Given the description of an element on the screen output the (x, y) to click on. 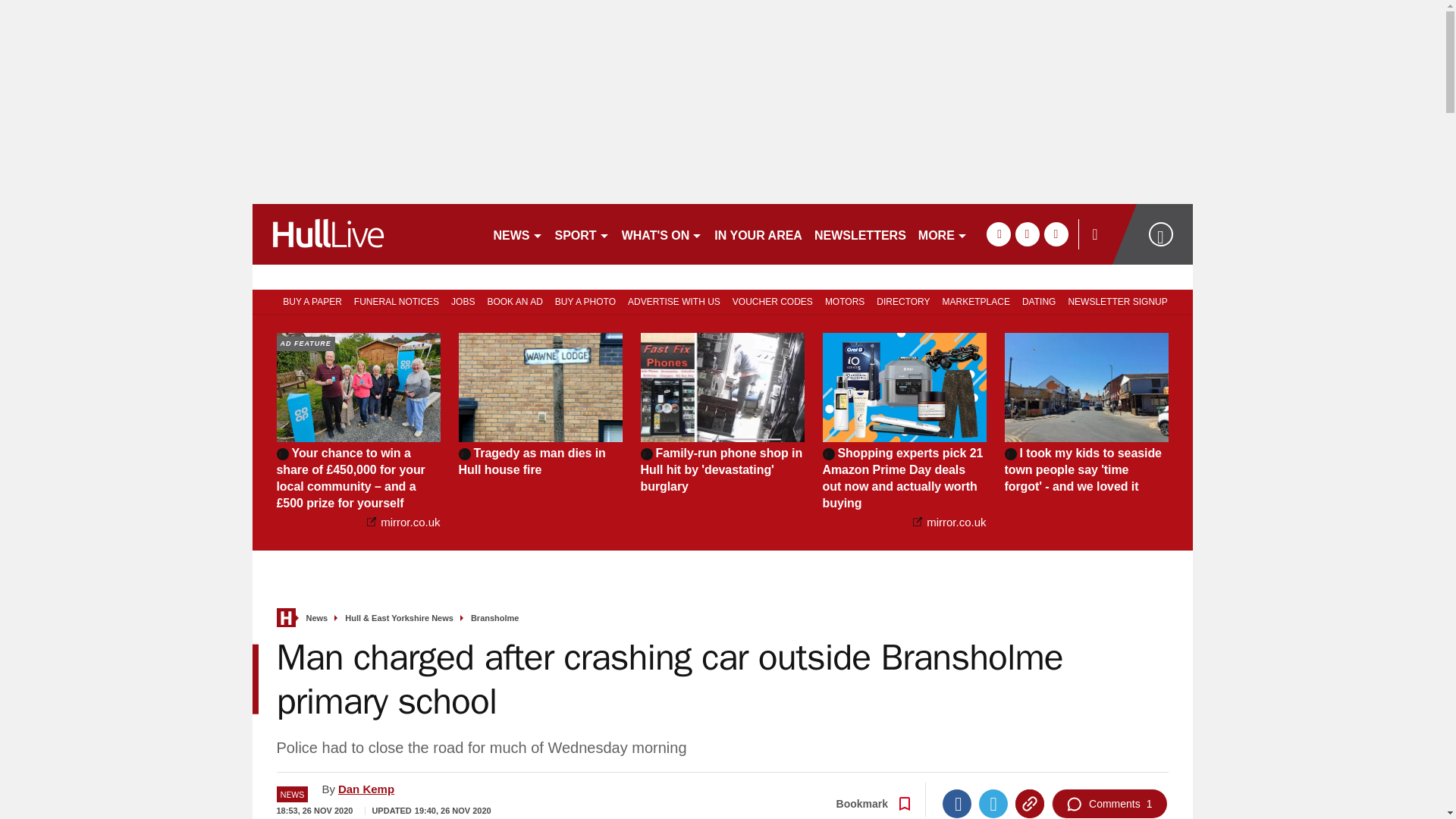
facebook (997, 233)
Facebook (956, 803)
IN YOUR AREA (757, 233)
Twitter (992, 803)
instagram (1055, 233)
NEWS (517, 233)
MORE (943, 233)
SPORT (581, 233)
NEWSLETTERS (860, 233)
Comments (1108, 803)
twitter (1026, 233)
hulldailymail (365, 233)
WHAT'S ON (662, 233)
